Given the description of an element on the screen output the (x, y) to click on. 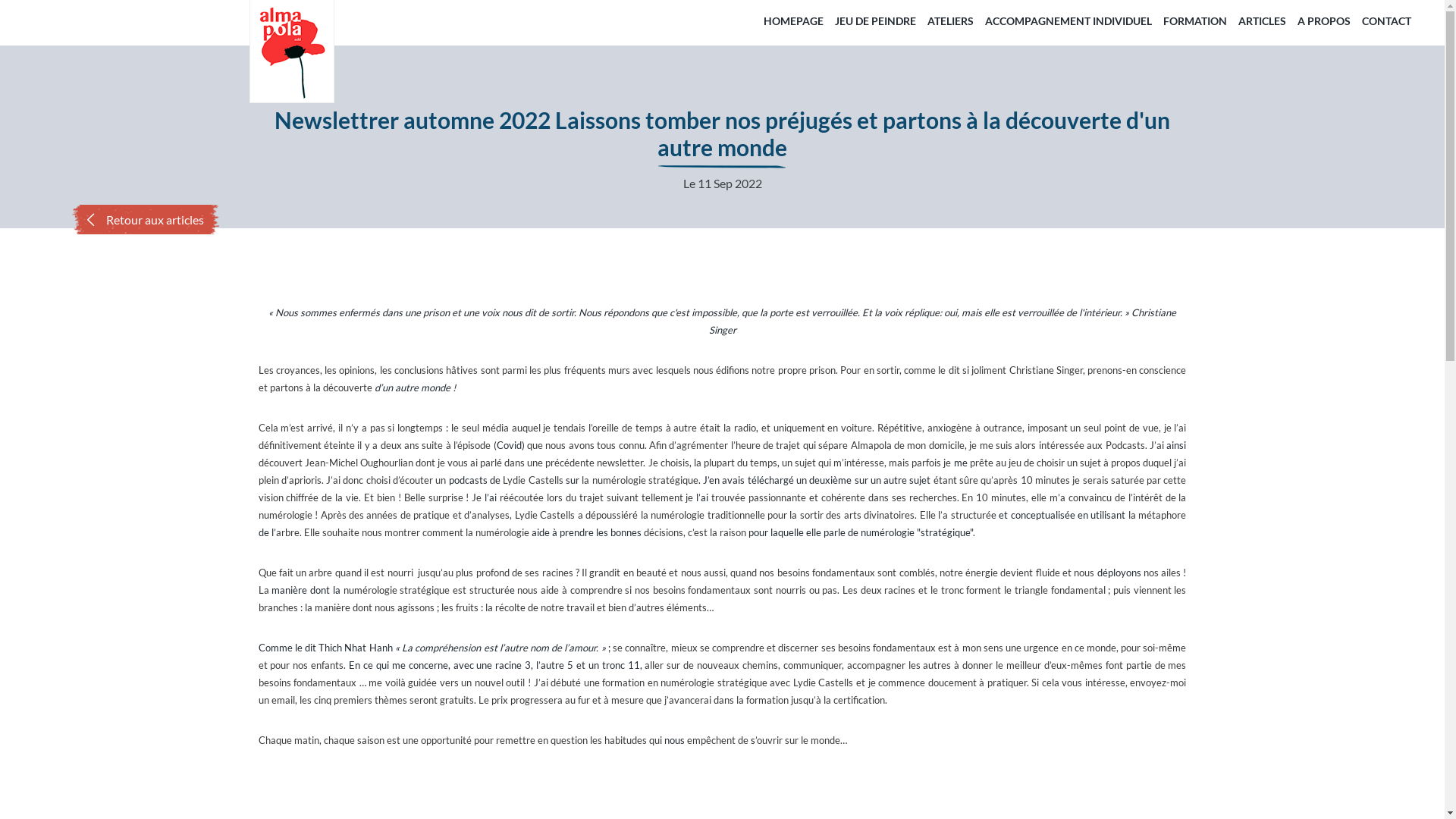
HOMEPAGE Element type: text (793, 20)
ARTICLES Element type: text (1261, 20)
Retour aux articles Element type: text (145, 219)
A PROPOS Element type: text (1323, 20)
CONTACT Element type: text (1386, 20)
JEU DE PEINDRE Element type: text (875, 20)
ACCOMPAGNEMENT INDIVIDUEL Element type: text (1068, 20)
FORMATION Element type: text (1194, 20)
ATELIERS Element type: text (950, 20)
